Given the description of an element on the screen output the (x, y) to click on. 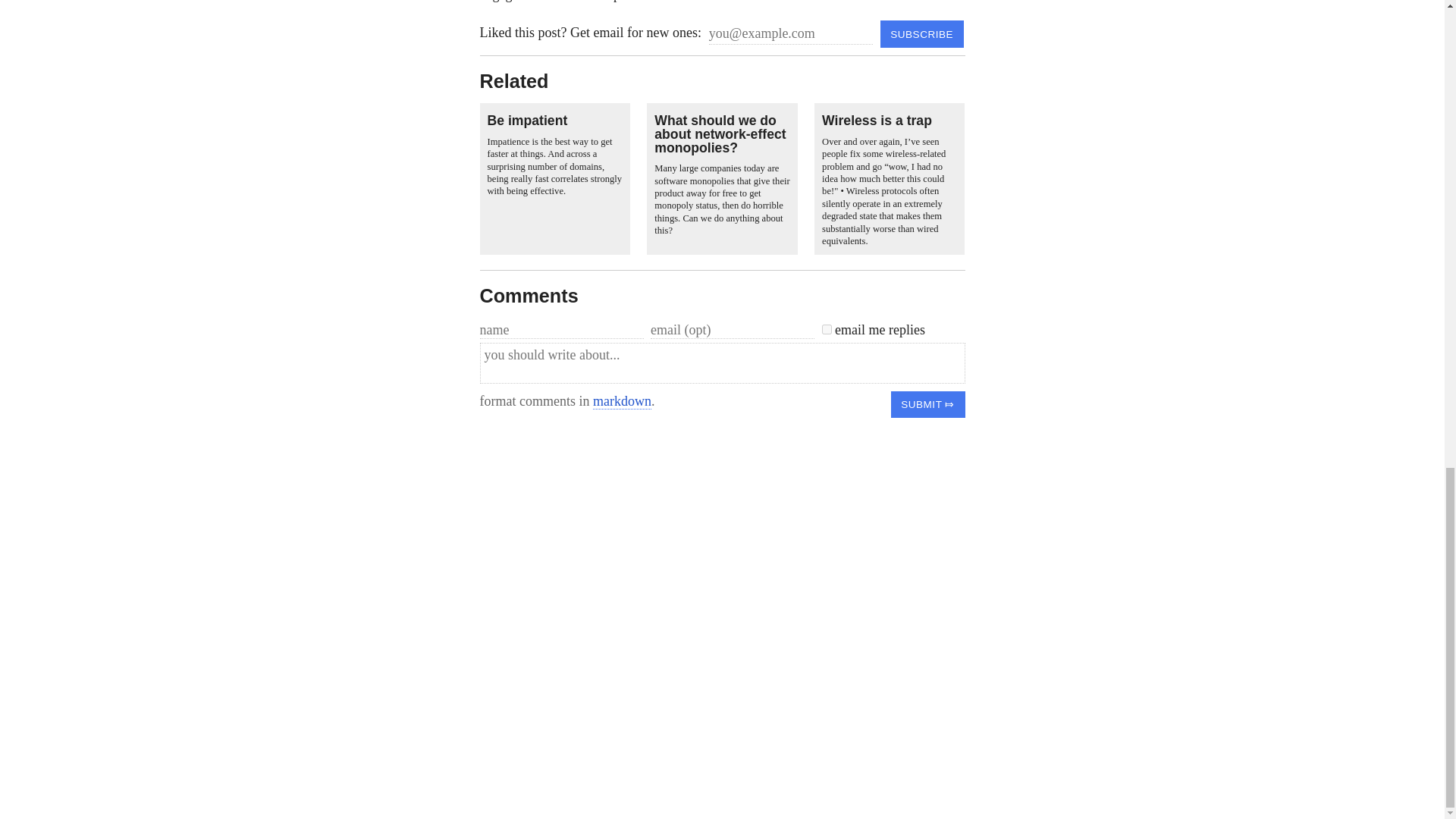
email (826, 329)
markdown (621, 401)
subscribe (921, 33)
subscribe (921, 33)
